Given the description of an element on the screen output the (x, y) to click on. 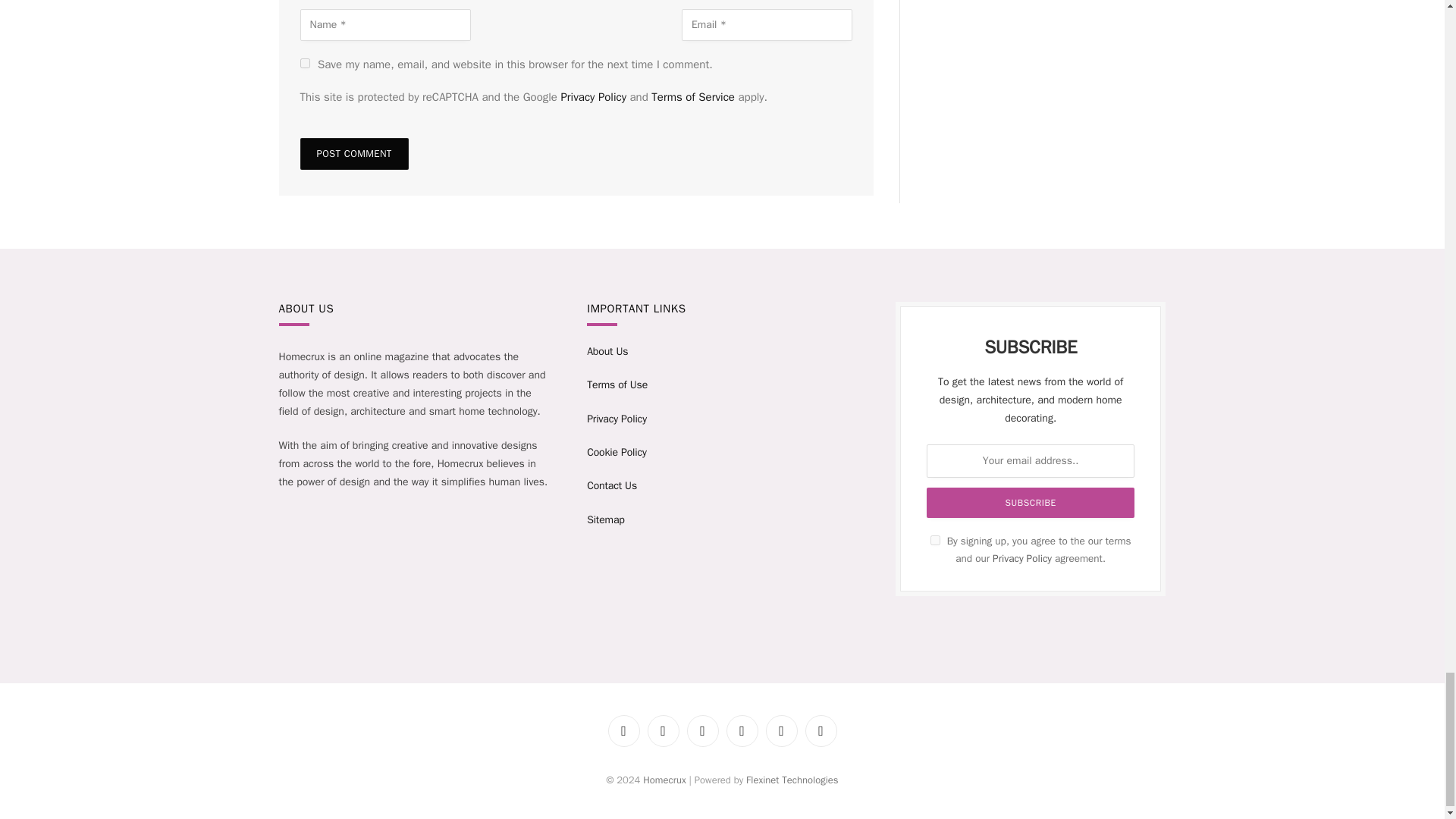
SUBSCRIBE (1030, 502)
yes (304, 62)
on (935, 540)
Post Comment (354, 153)
